Given the description of an element on the screen output the (x, y) to click on. 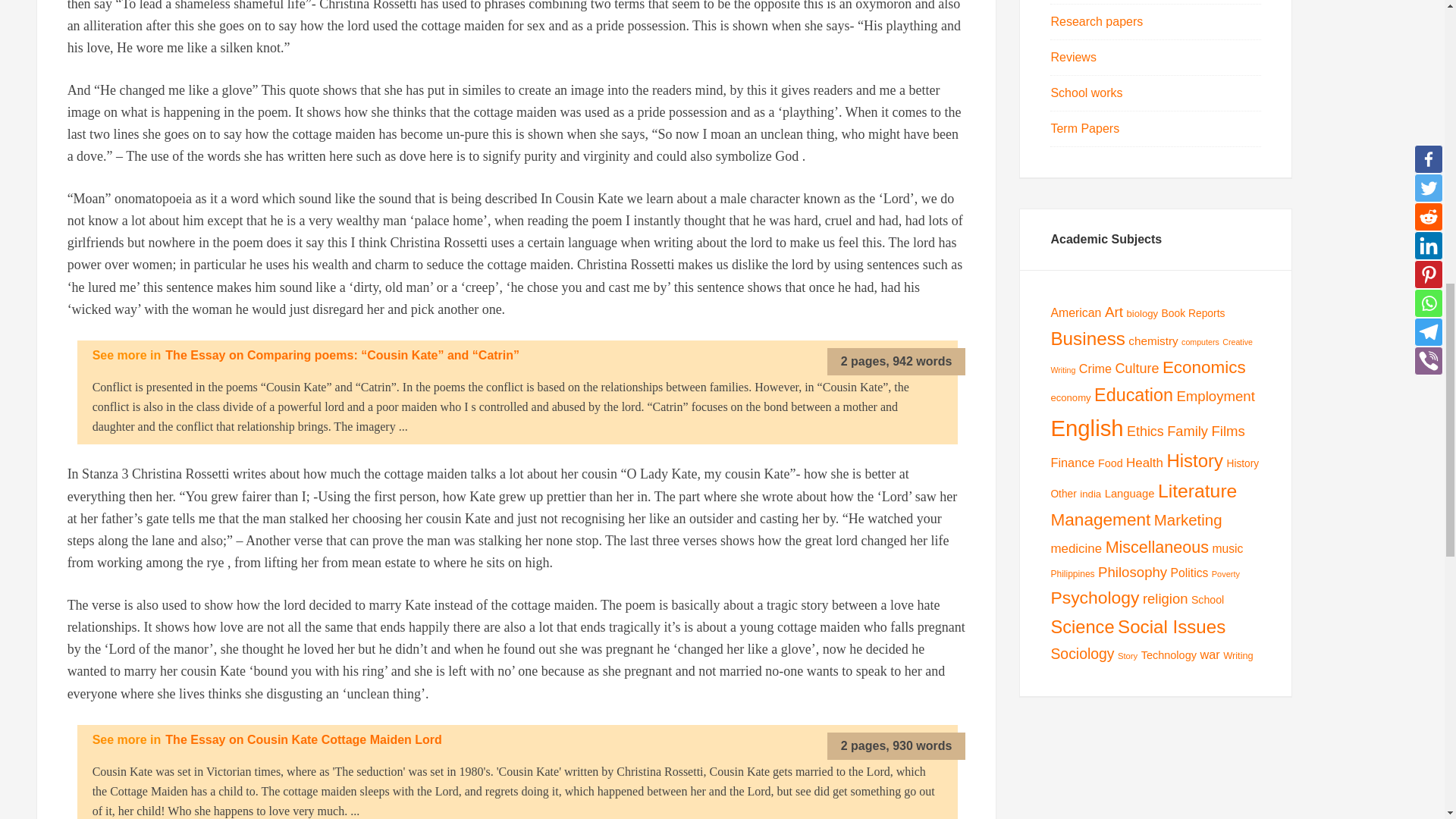
Research papers (1095, 21)
The Essay on Cousin Kate Cottage Maiden Lord (303, 739)
Reviews (1072, 56)
